Given the description of an element on the screen output the (x, y) to click on. 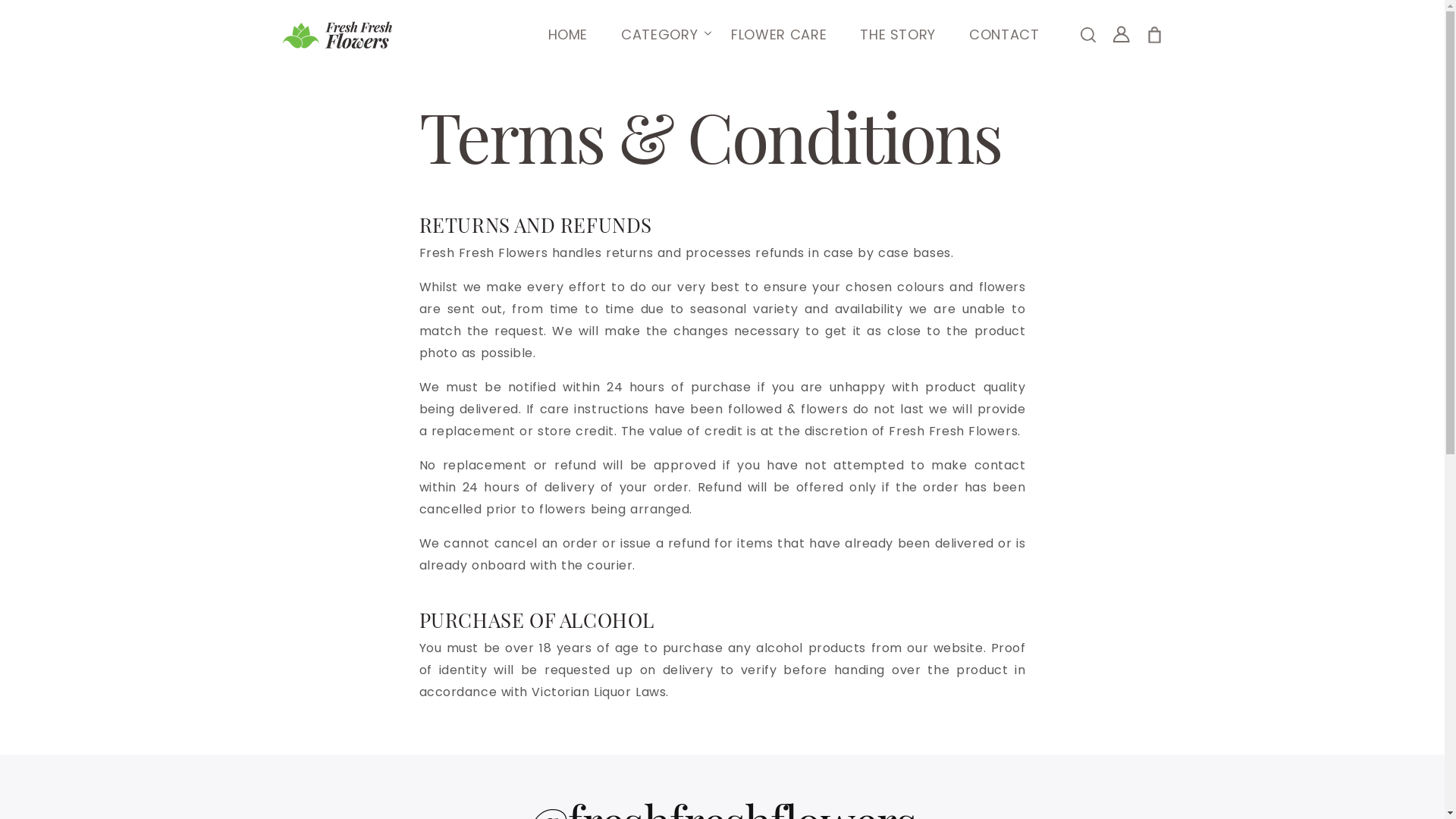
Log in Element type: text (1120, 34)
FLOWER CARE Element type: text (778, 34)
THE STORY Element type: text (897, 34)
Cart Element type: text (1153, 34)
HOME Element type: text (568, 34)
CONTACT Element type: text (1003, 34)
